Given the description of an element on the screen output the (x, y) to click on. 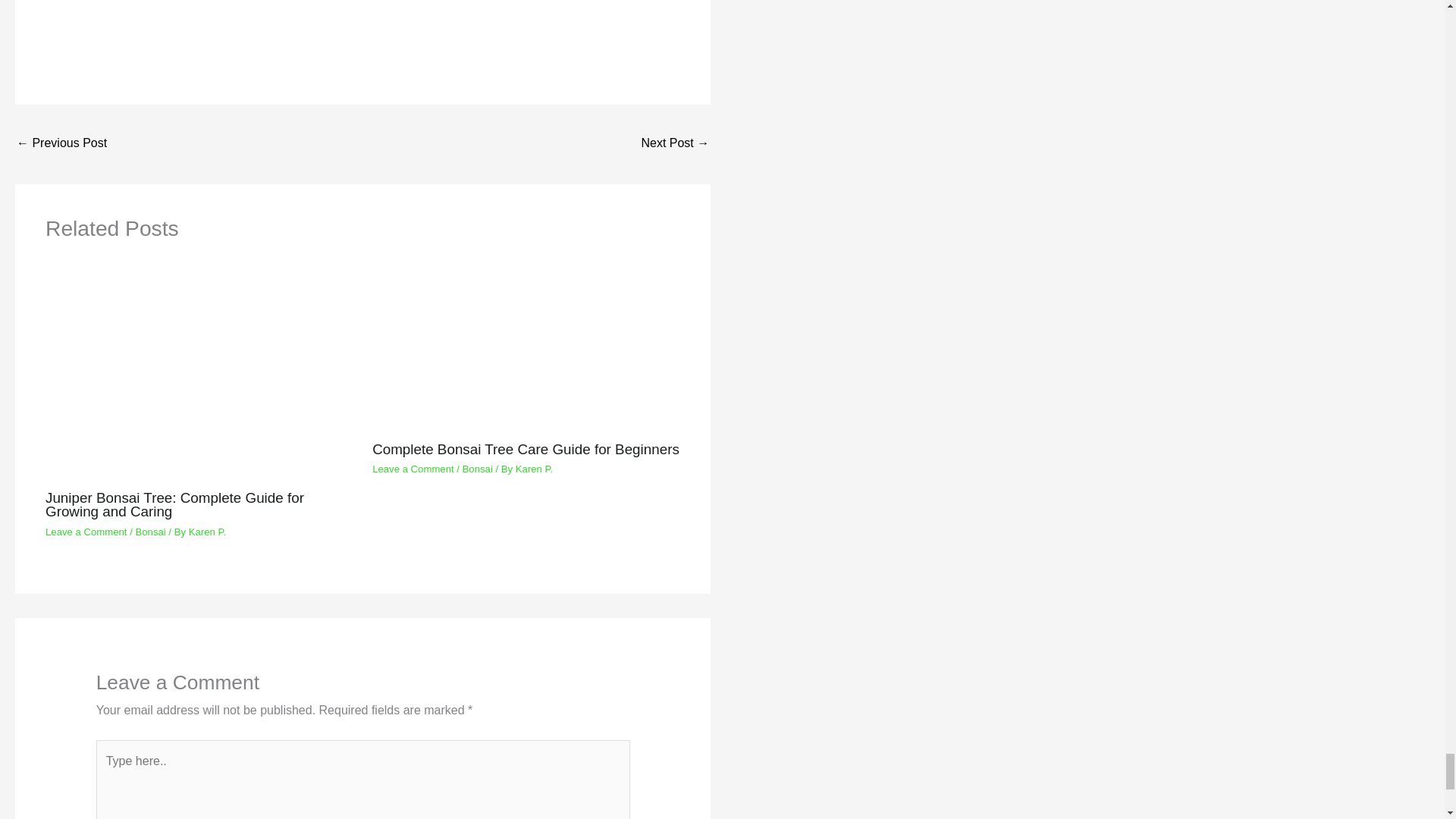
Complete Bonsai Tree Care Guide for Beginners (525, 449)
Karen P. (208, 531)
Leave a Comment (86, 531)
Juniper Bonsai Tree: Complete Guide for Growing and Caring (174, 504)
Bonsai (150, 531)
